Given the description of an element on the screen output the (x, y) to click on. 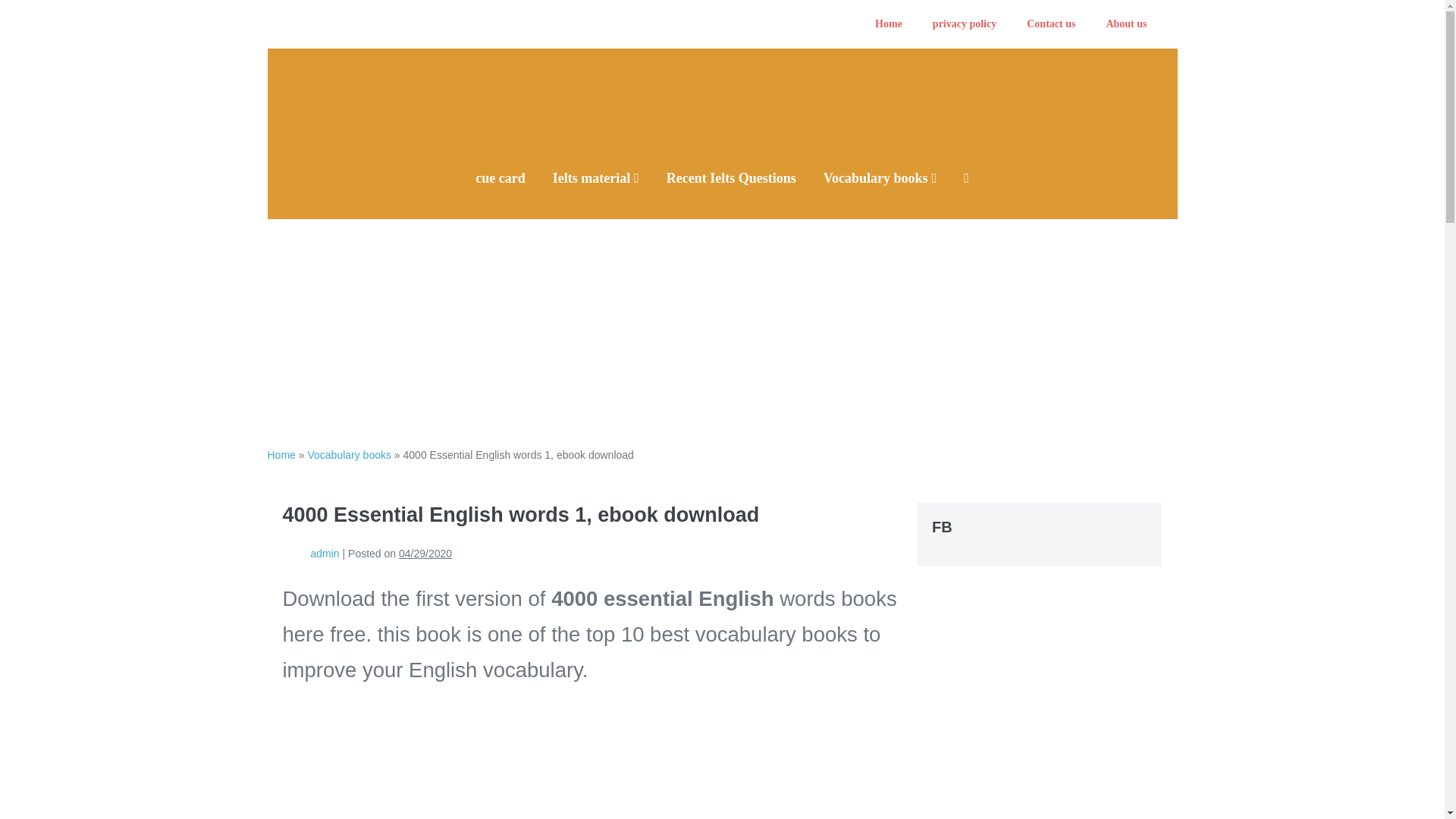
privacy policy (964, 23)
About us (1125, 23)
Ielts material (595, 178)
Vocabulary books (349, 454)
Home (280, 454)
Contact us (1050, 23)
admin (325, 553)
Home (888, 23)
Recent Ielts Questions (730, 178)
Vocabulary books (879, 178)
cue card (499, 178)
View all posts by admin (325, 553)
